Given the description of an element on the screen output the (x, y) to click on. 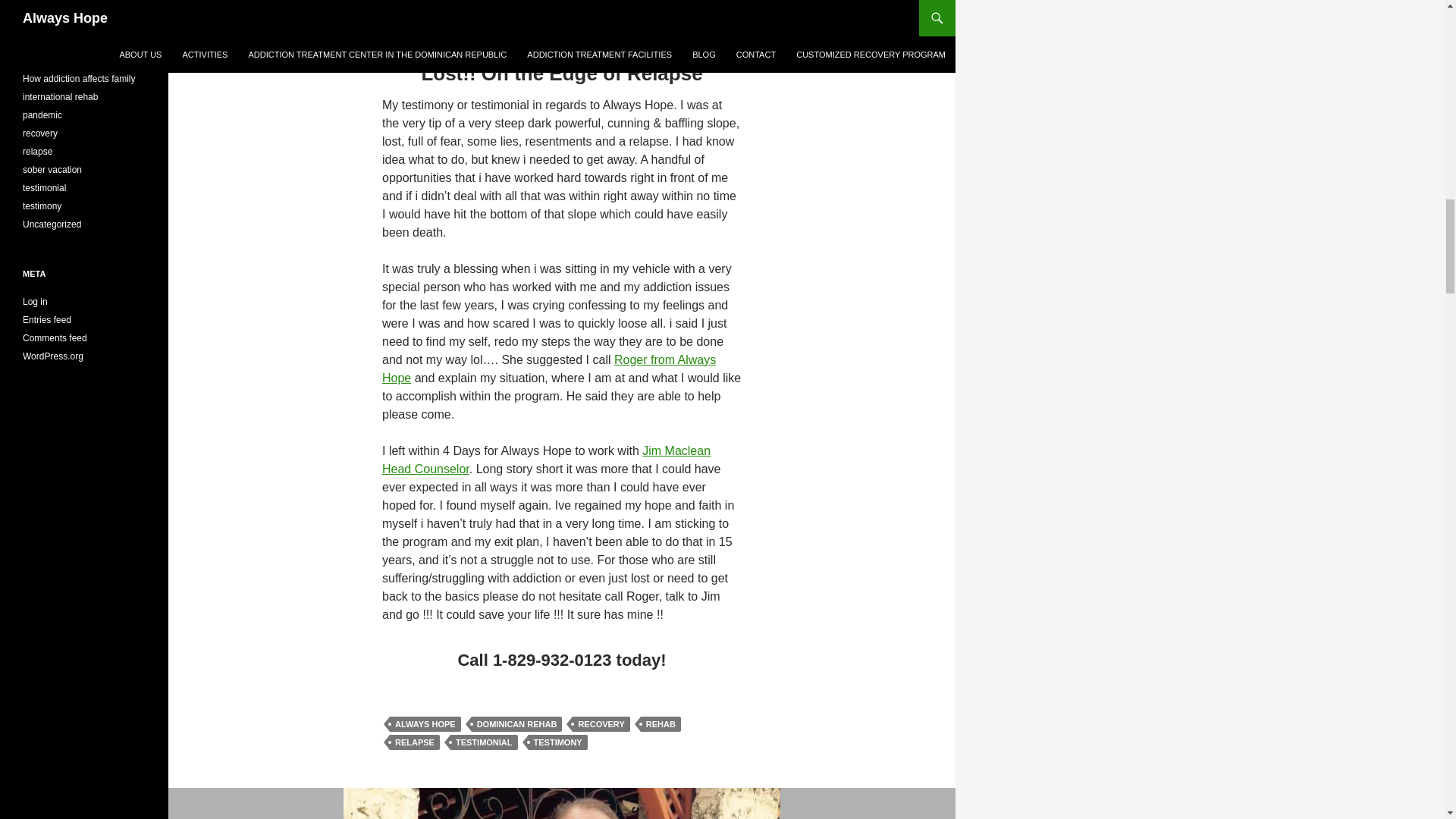
APRIL 7, 2017 (417, 28)
LOST!! ON THE EDGE OF RELAPSE (531, 6)
ALWAYS HOPE (502, 28)
